Given the description of an element on the screen output the (x, y) to click on. 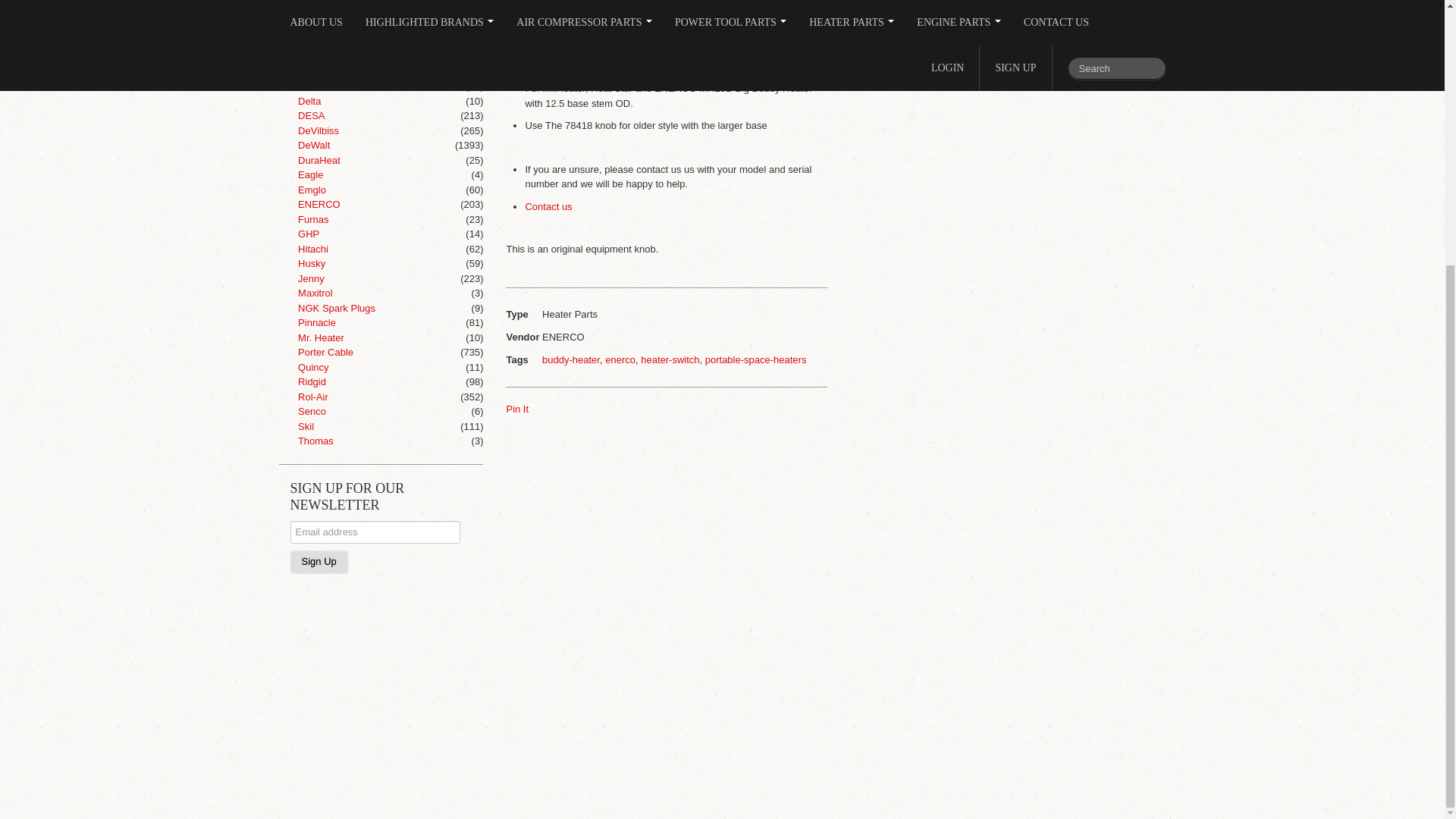
Sign Up (318, 560)
